Given the description of an element on the screen output the (x, y) to click on. 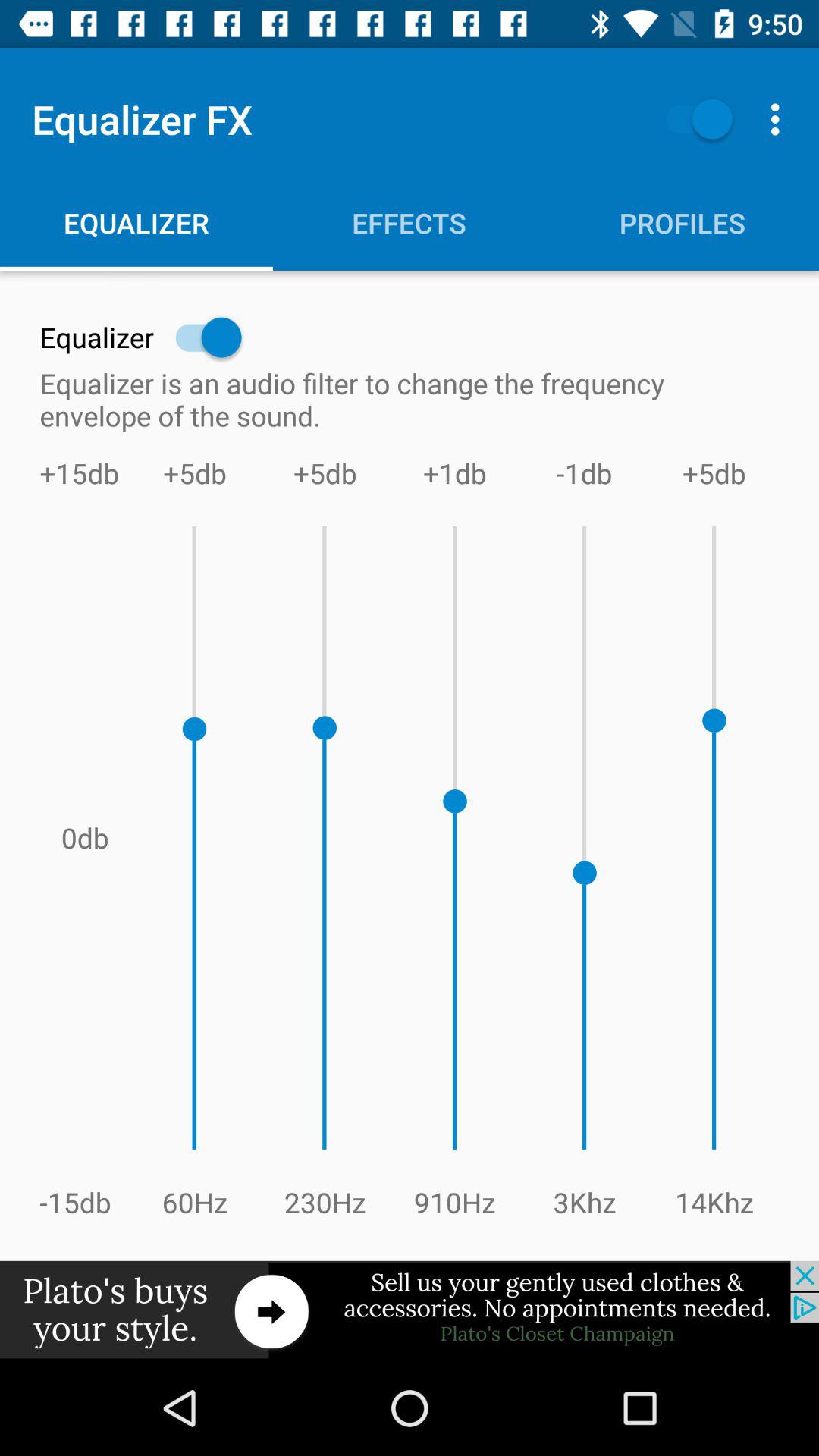
toggle autoplay (691, 119)
